Given the description of an element on the screen output the (x, y) to click on. 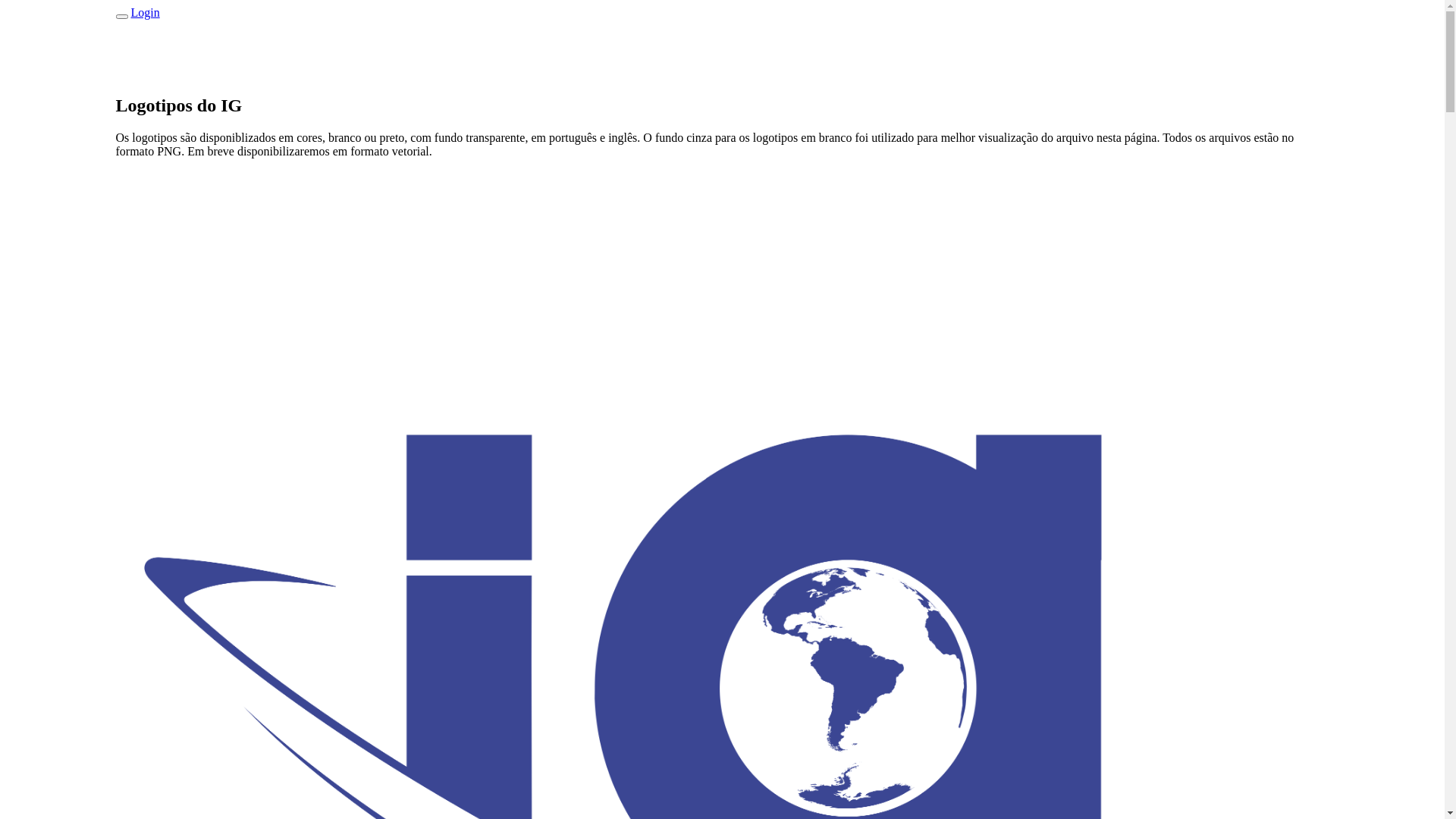
Login Element type: text (144, 12)
